Given the description of an element on the screen output the (x, y) to click on. 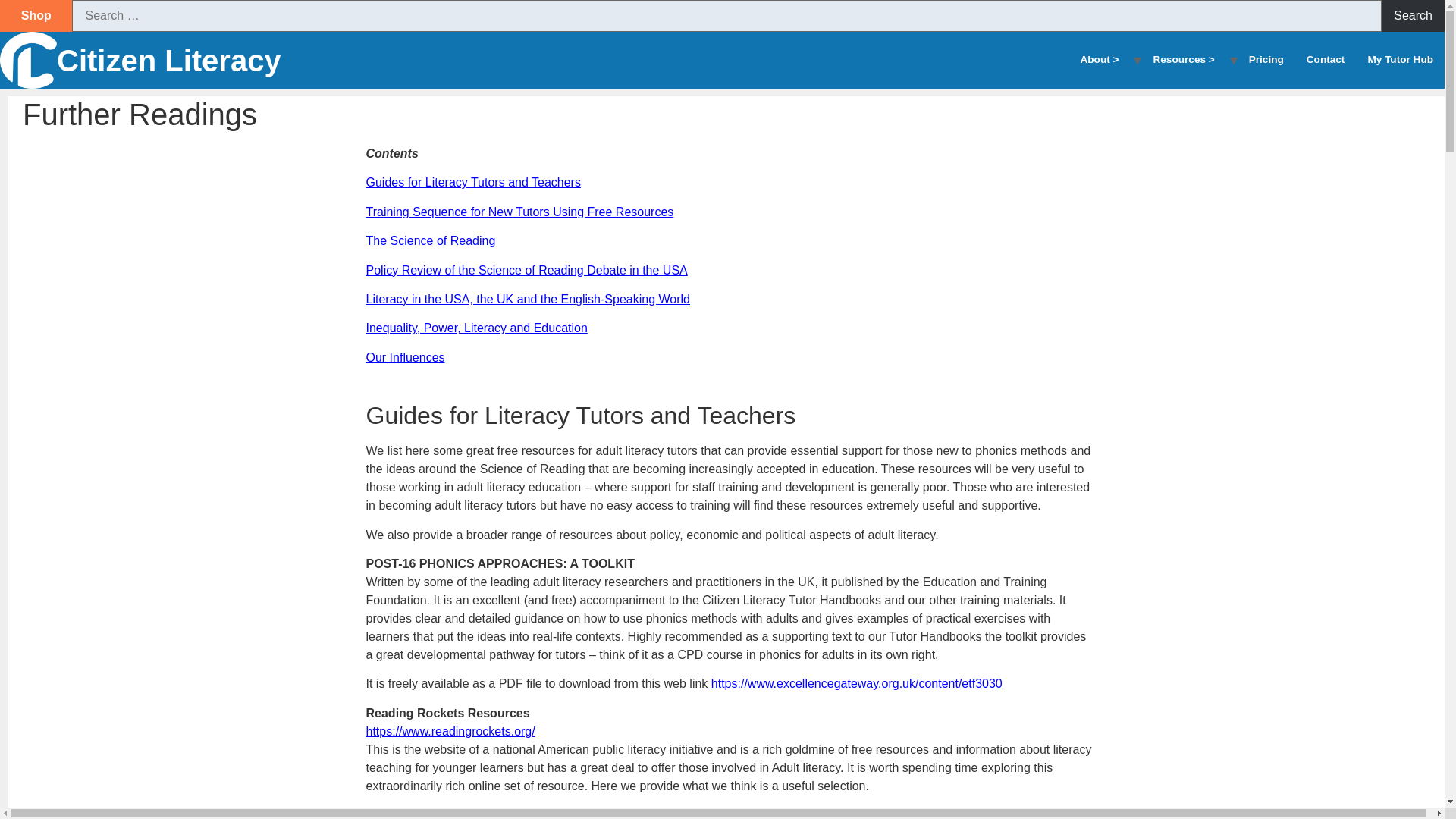
Shop (35, 15)
Search (1412, 15)
Home (168, 60)
My Tutor Hub (1399, 59)
Search (1412, 15)
Citizen Literacy (168, 60)
Pricing (1266, 59)
Contact (1325, 59)
Search (1412, 15)
